Given the description of an element on the screen output the (x, y) to click on. 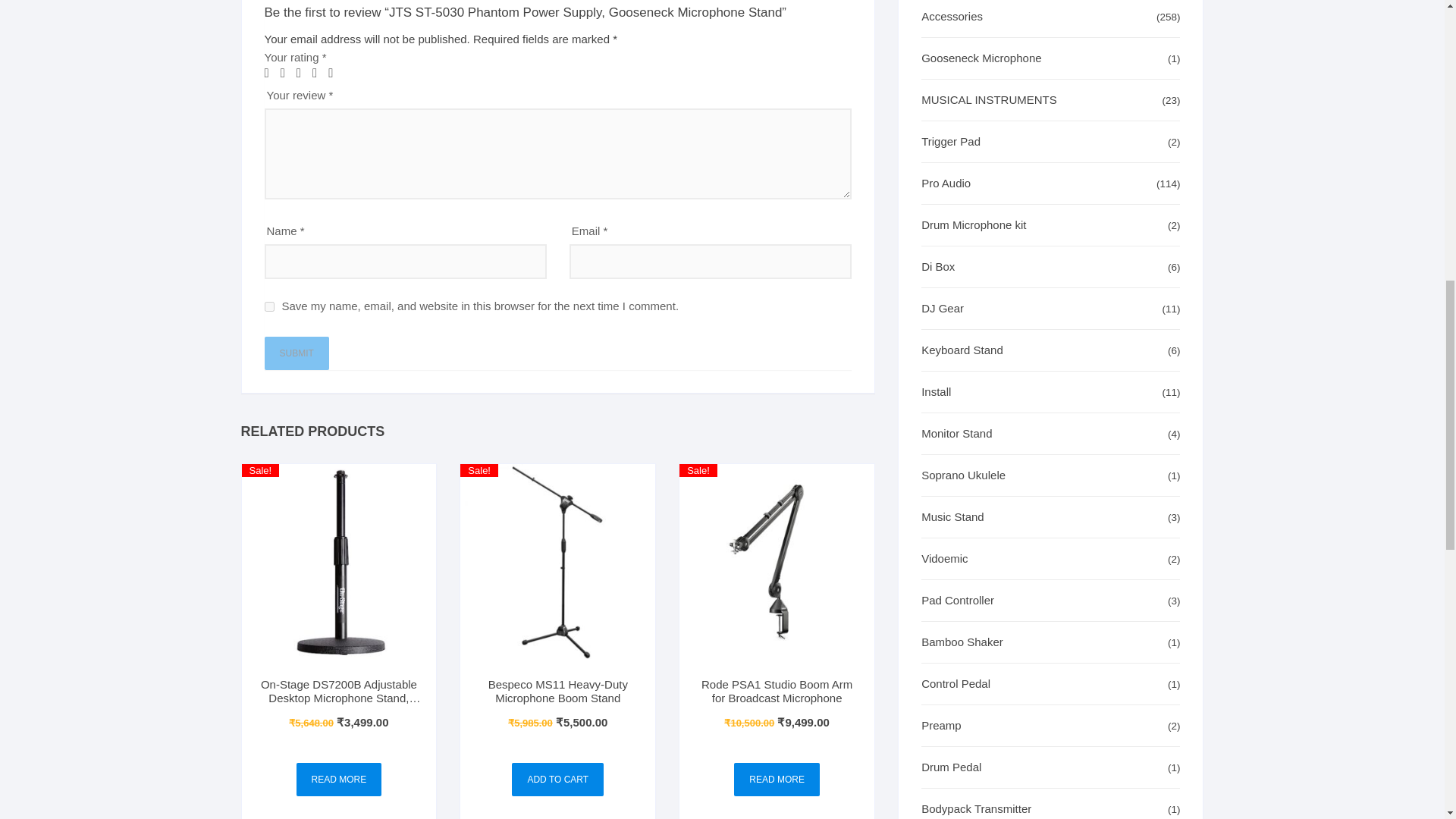
yes (268, 307)
Submit (296, 353)
